Given the description of an element on the screen output the (x, y) to click on. 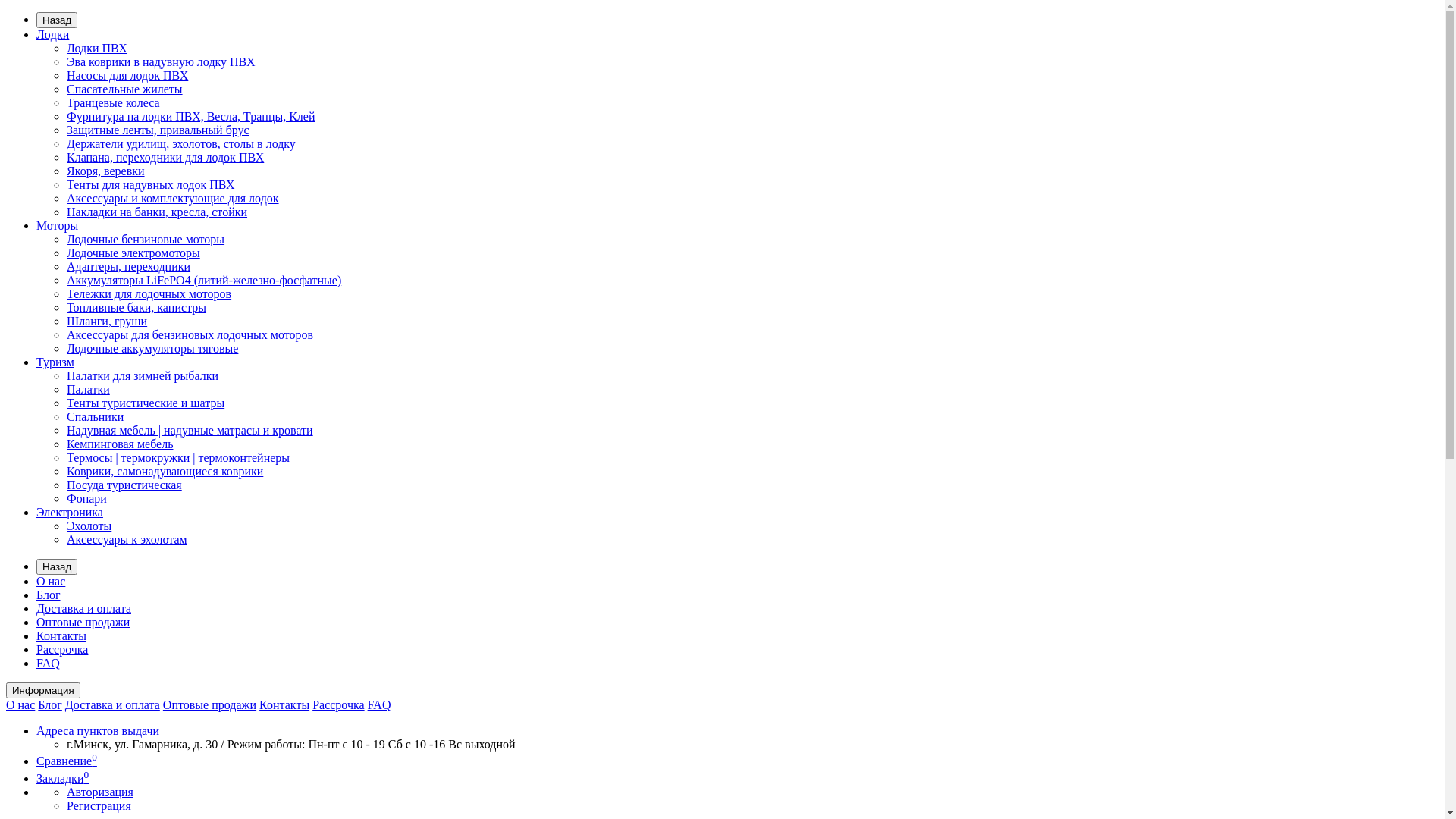
FAQ Element type: text (47, 662)
FAQ Element type: text (379, 704)
